Given the description of an element on the screen output the (x, y) to click on. 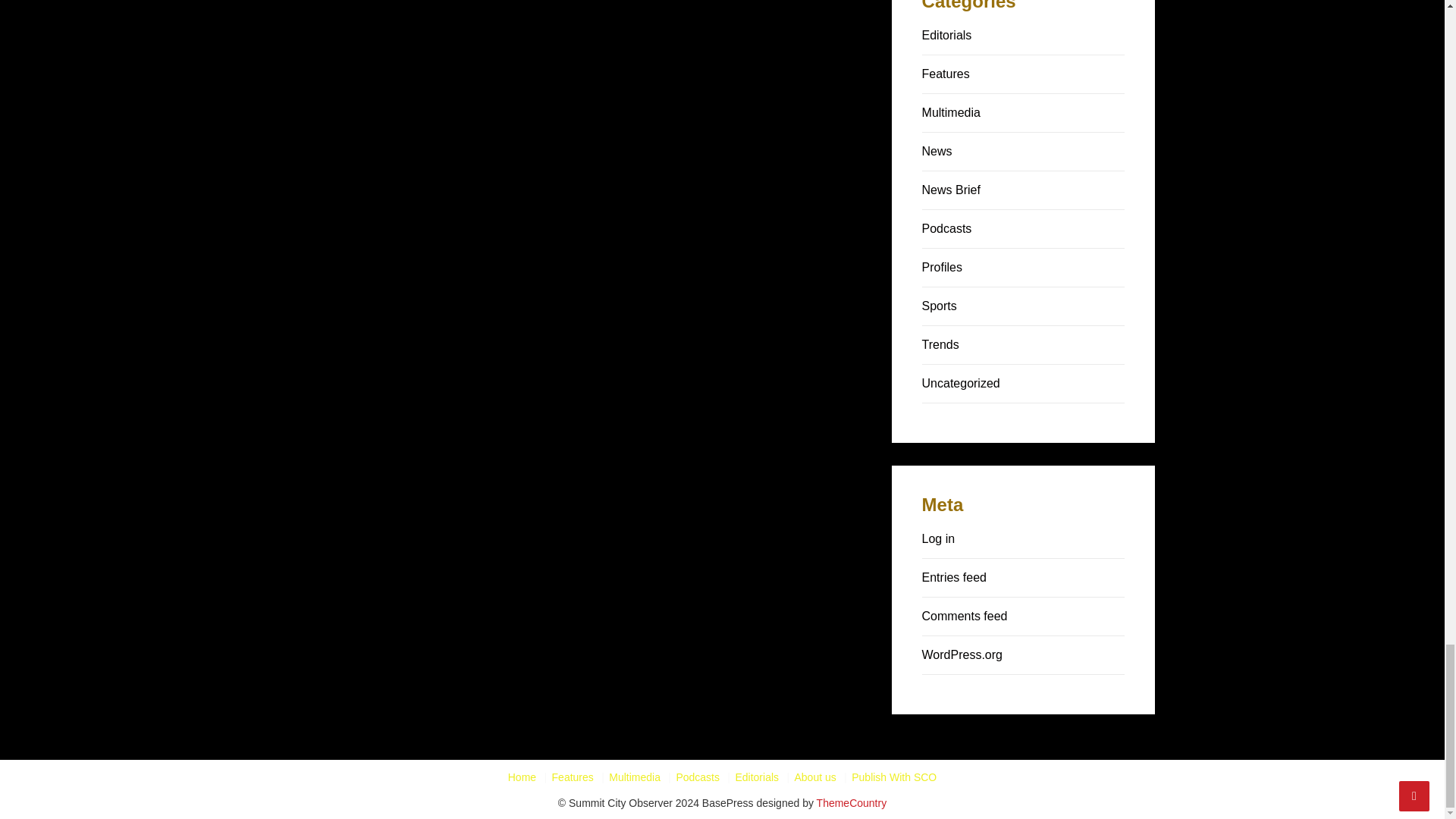
Base - The best free blog theme for WordPress (851, 802)
